Given the description of an element on the screen output the (x, y) to click on. 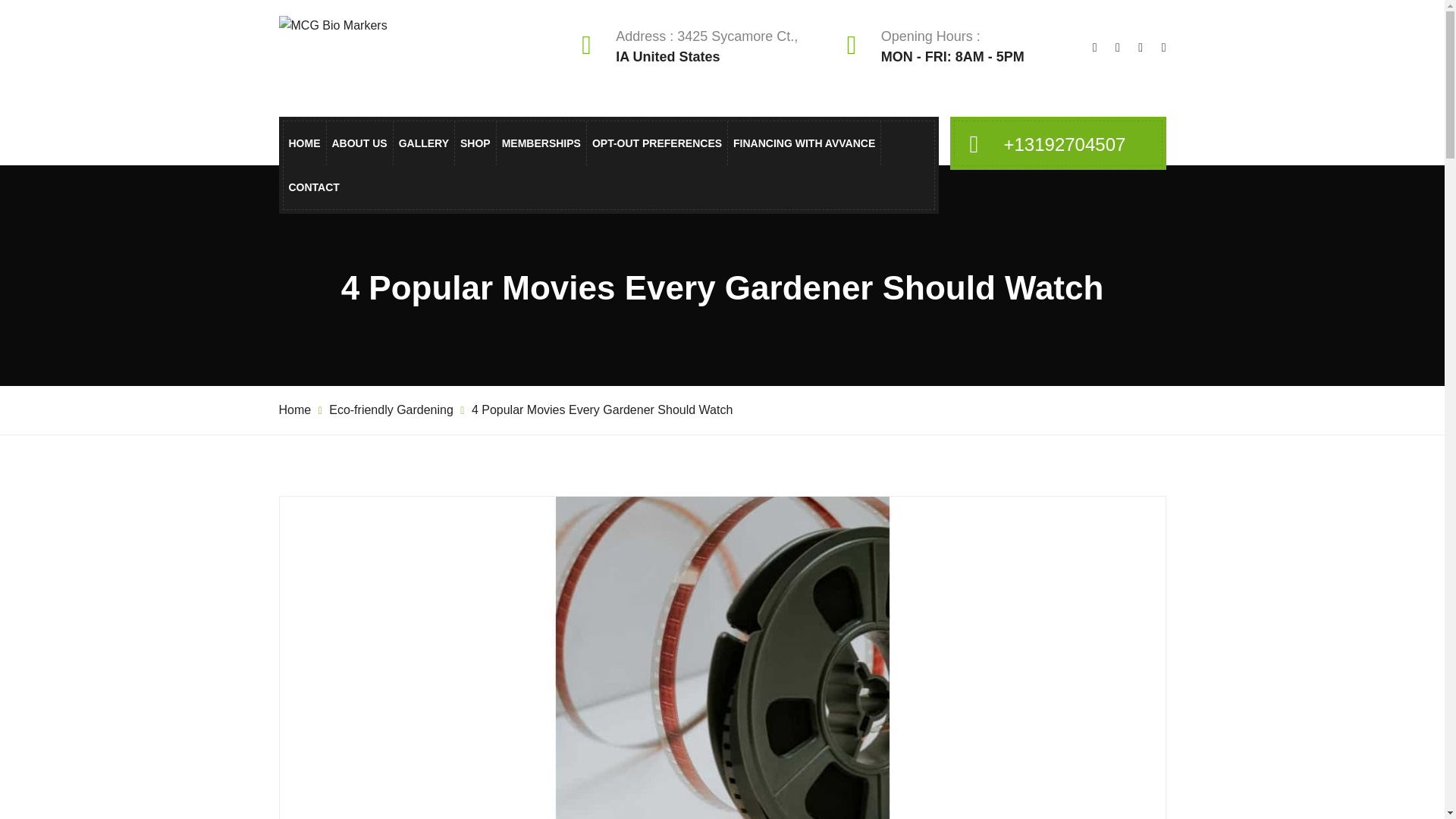
HOME (304, 142)
Video (575, 273)
Blog (575, 240)
MCG BioComposites (508, 240)
GALLERY (423, 142)
SHOP (475, 142)
MEMBERSHIPS (541, 142)
What Is BioMass (508, 207)
Case Study (575, 207)
ABOUT US (359, 142)
